Given the description of an element on the screen output the (x, y) to click on. 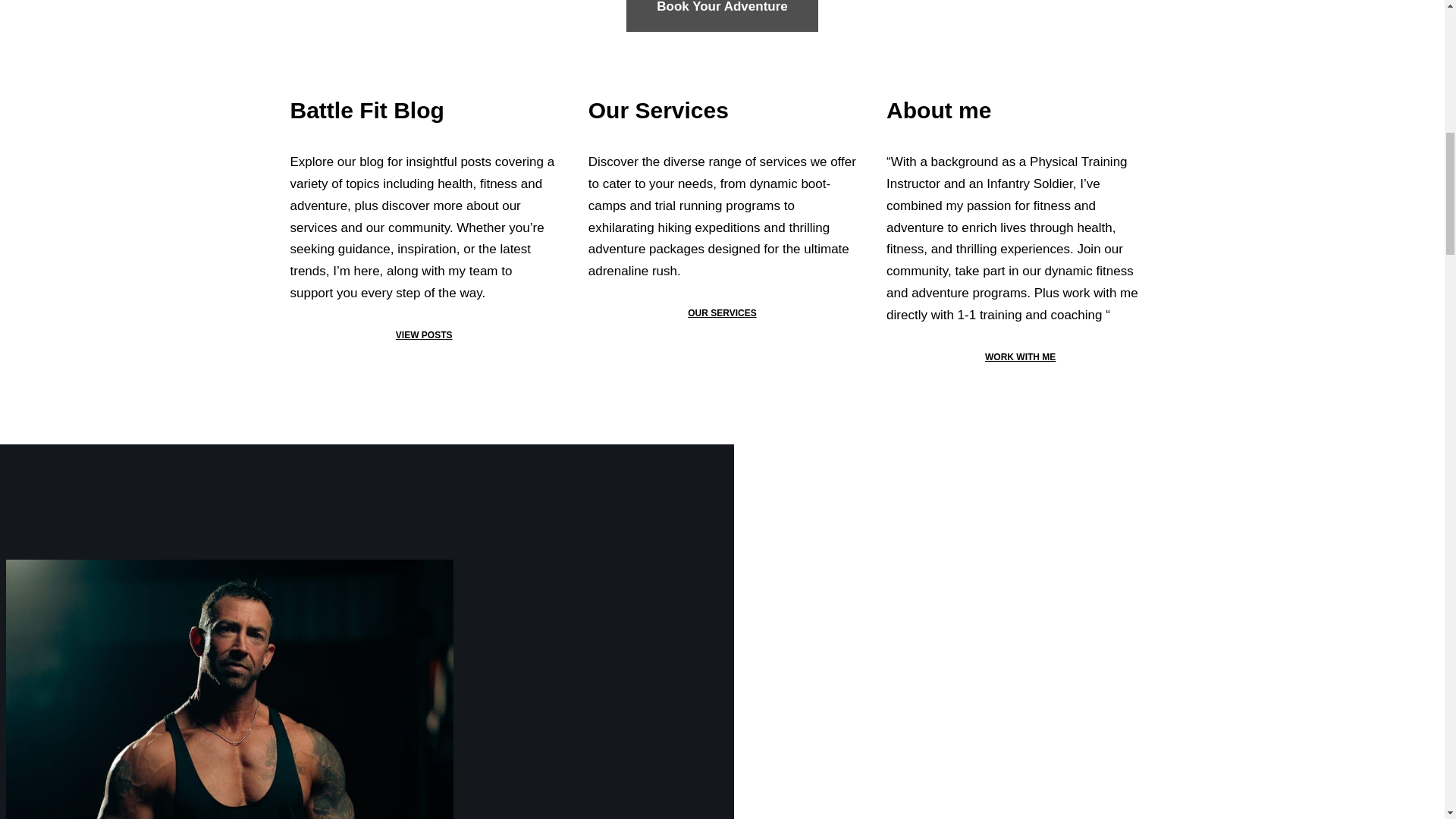
VIEW POSTS (424, 335)
OUR SERVICES (721, 312)
WORK WITH ME (1020, 357)
Book Your Adventure (722, 15)
